Given the description of an element on the screen output the (x, y) to click on. 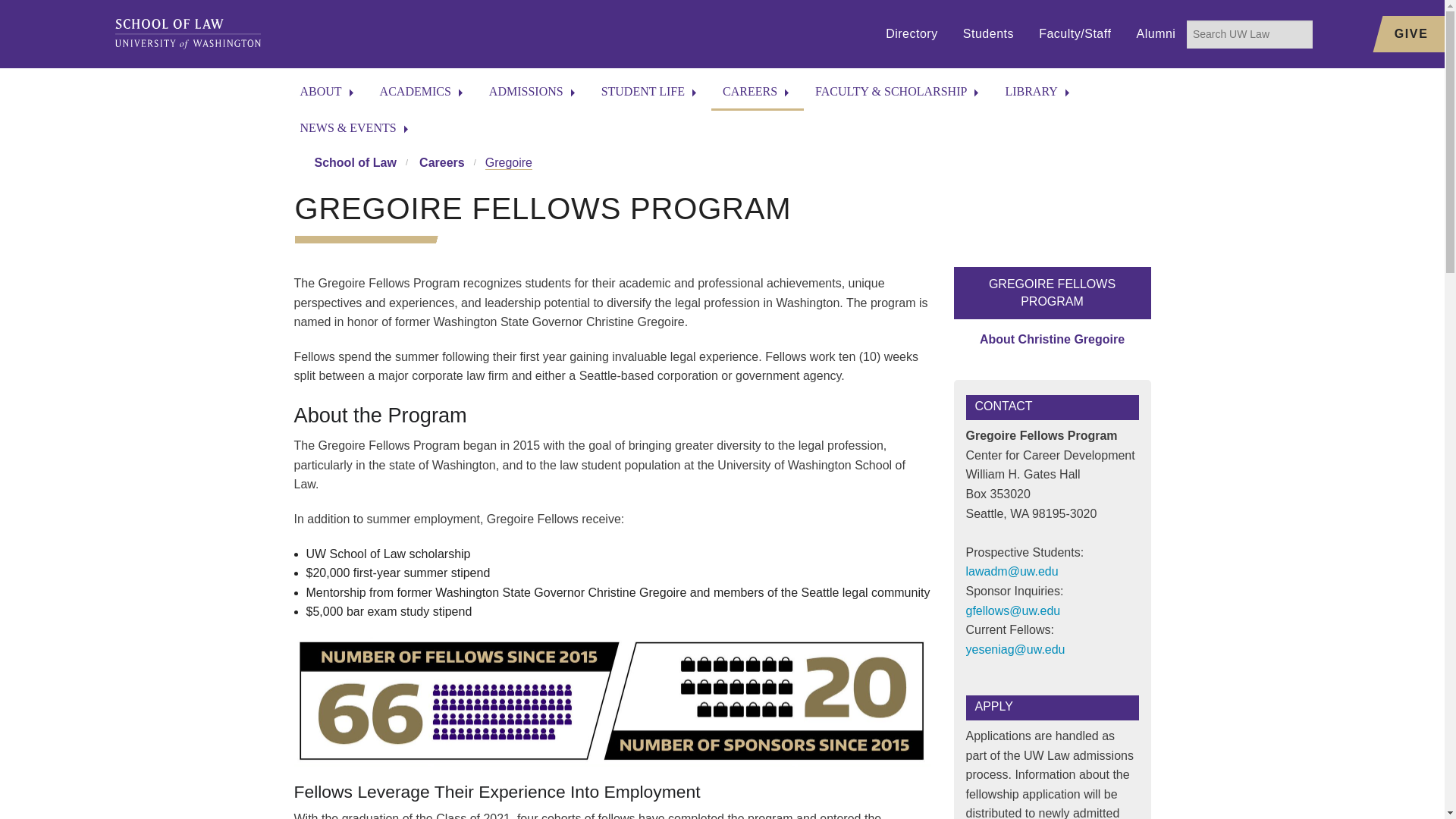
Student Journals (422, 377)
Undergraduate (422, 342)
ACADEMICS (422, 92)
William H. Gates Hall (327, 168)
Ph.D. in Law (422, 238)
Directory (911, 34)
Experiential Learning (422, 273)
Required Disclosures (327, 238)
Calendar (327, 308)
Ph.D. Admissions (533, 238)
